Given the description of an element on the screen output the (x, y) to click on. 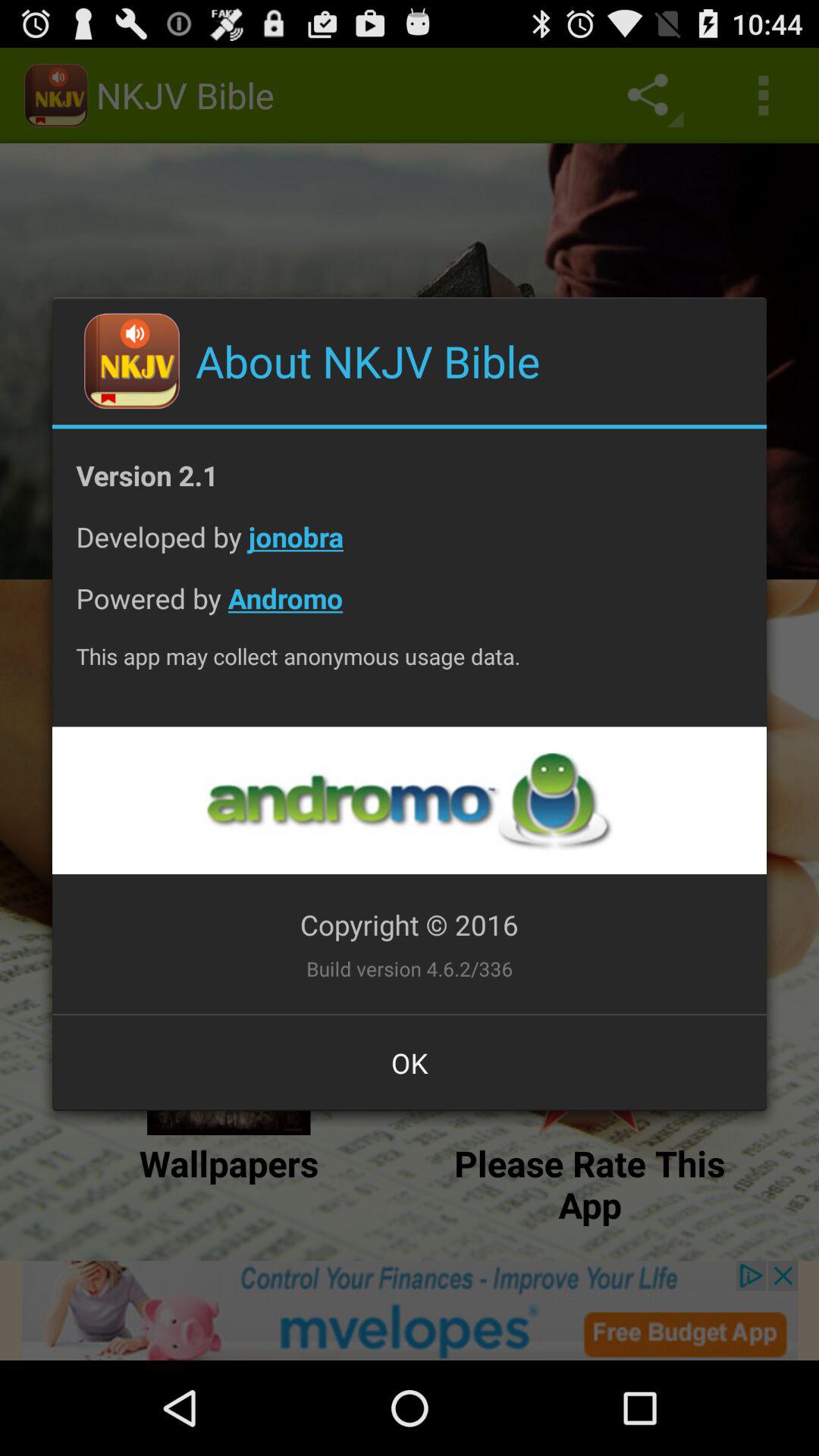
click the item below the build version 4 app (409, 1062)
